Given the description of an element on the screen output the (x, y) to click on. 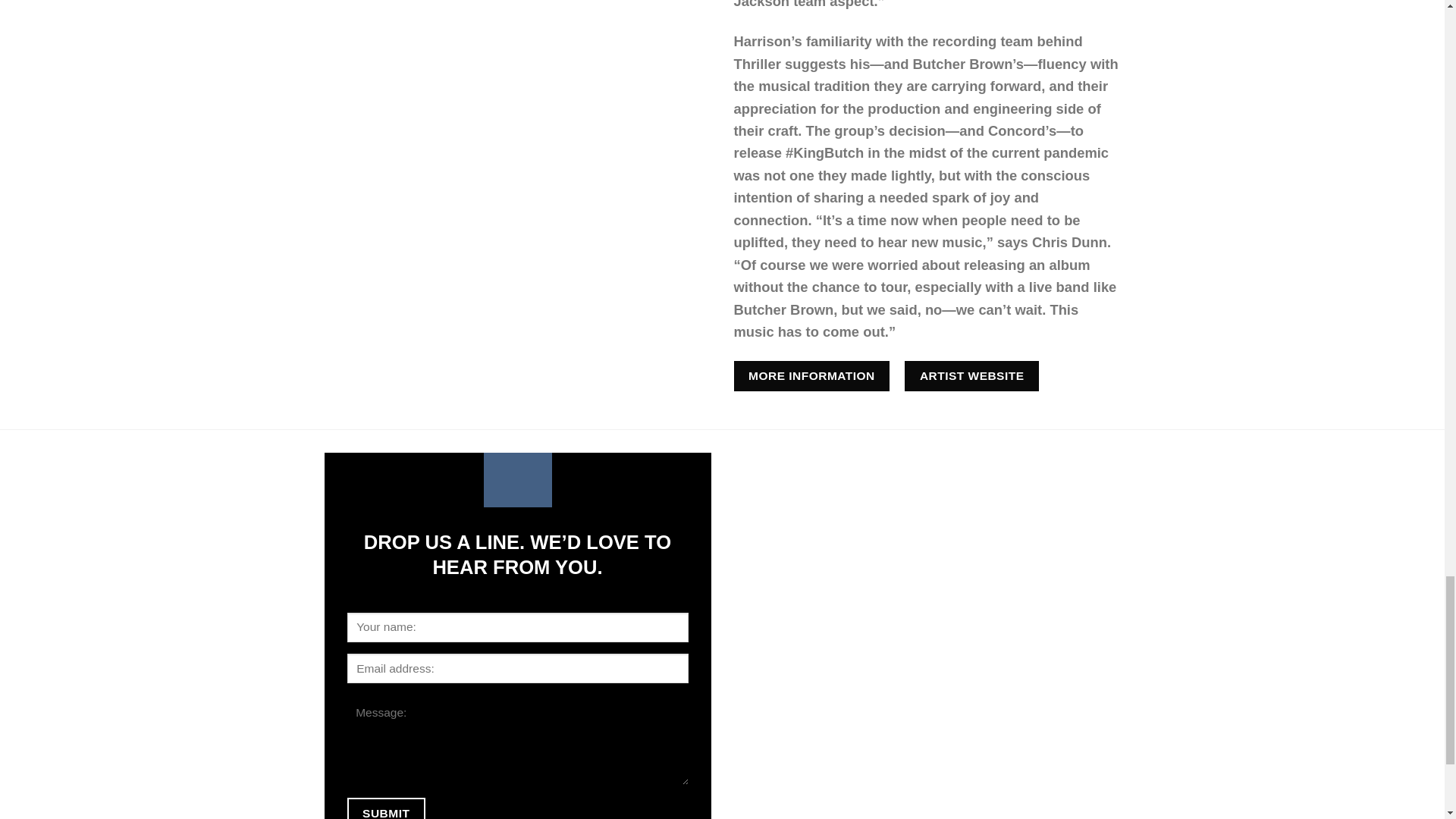
ARTIST WEBSITE (971, 375)
MORE INFORMATION (811, 375)
Submit (386, 808)
Submit (386, 808)
